Given the description of an element on the screen output the (x, y) to click on. 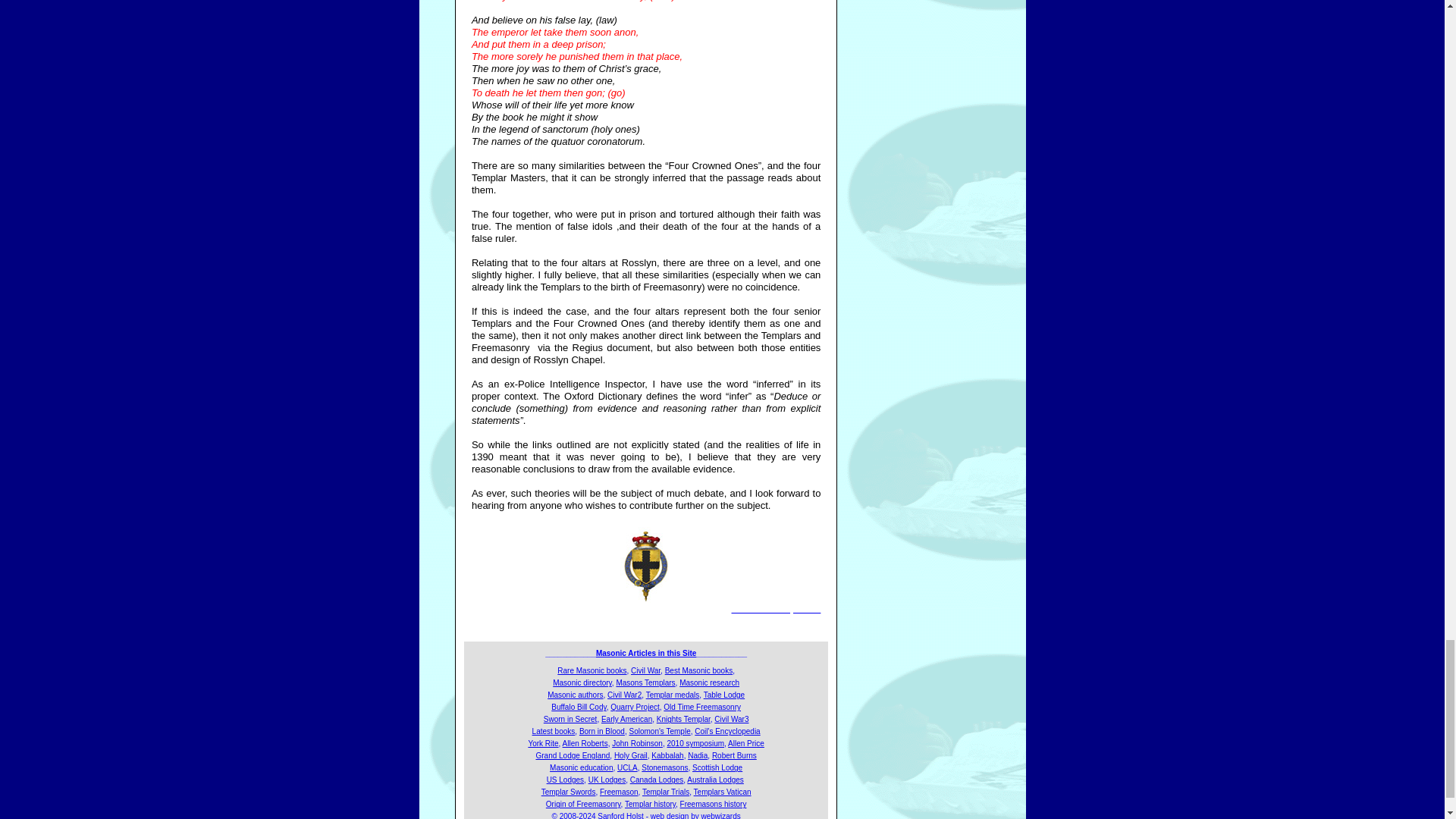
Table Lodge (724, 695)
Sworn in Secret (569, 718)
Masonic authors (574, 695)
Masonic education (581, 767)
Civil War3 (731, 718)
Buffalo Bill Cody (578, 706)
York Rite (542, 743)
Nadia (697, 755)
Knights Templar (683, 718)
Rare Masonic books (591, 670)
Civil War (645, 670)
Grand Lodge England (572, 755)
Latest books (553, 731)
Civil War2 (624, 695)
Coil's Encyclopedia (727, 731)
